Given the description of an element on the screen output the (x, y) to click on. 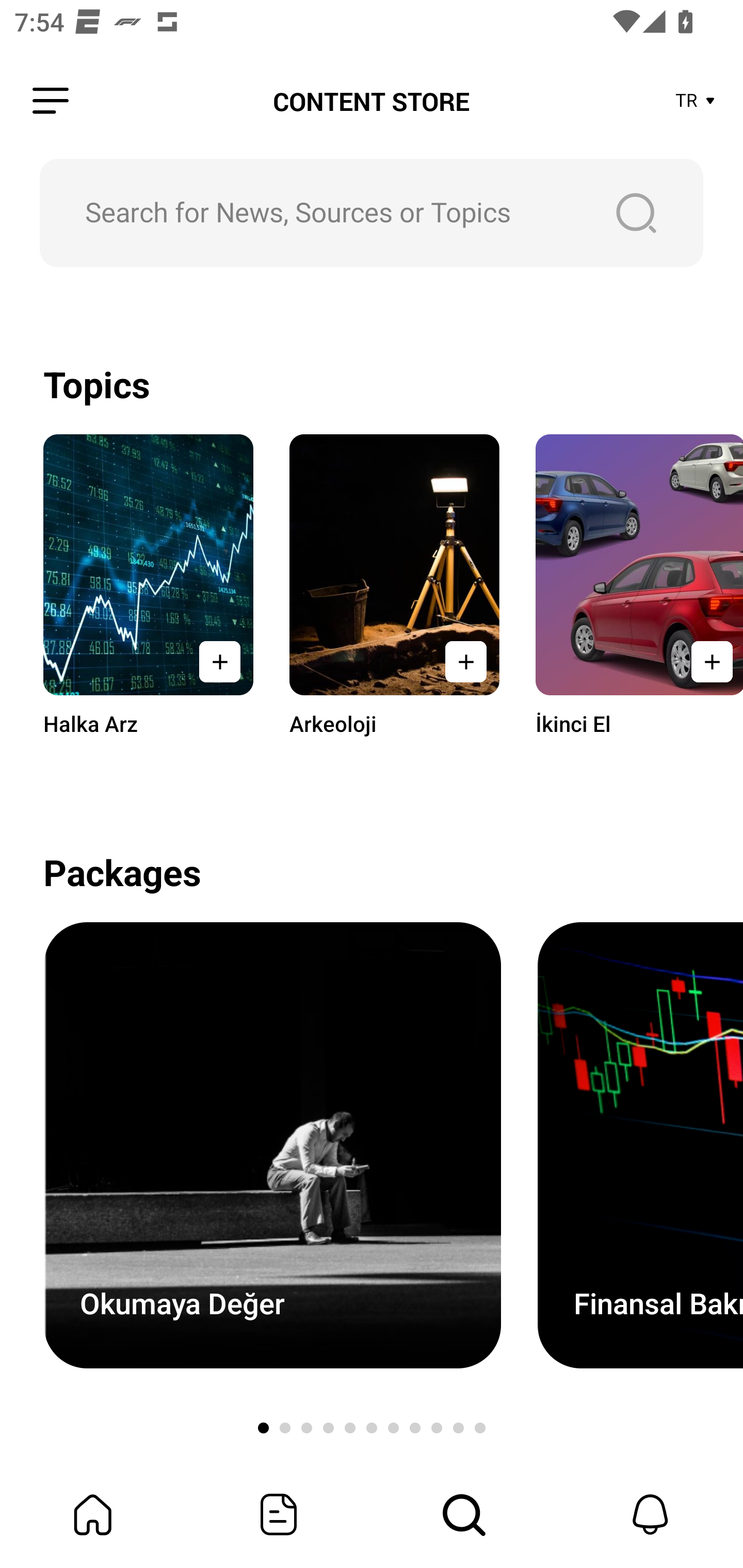
Leading Icon (50, 101)
TR Store Area (695, 101)
Search for News, Sources or Topics Search Button (371, 212)
Add To My Bundle (219, 661)
Add To My Bundle (465, 661)
Add To My Bundle (705, 661)
Content Store Discover Card Image Okumaya Değer (271, 1144)
My Bundle (92, 1514)
Featured (278, 1514)
Notifications (650, 1514)
